Given the description of an element on the screen output the (x, y) to click on. 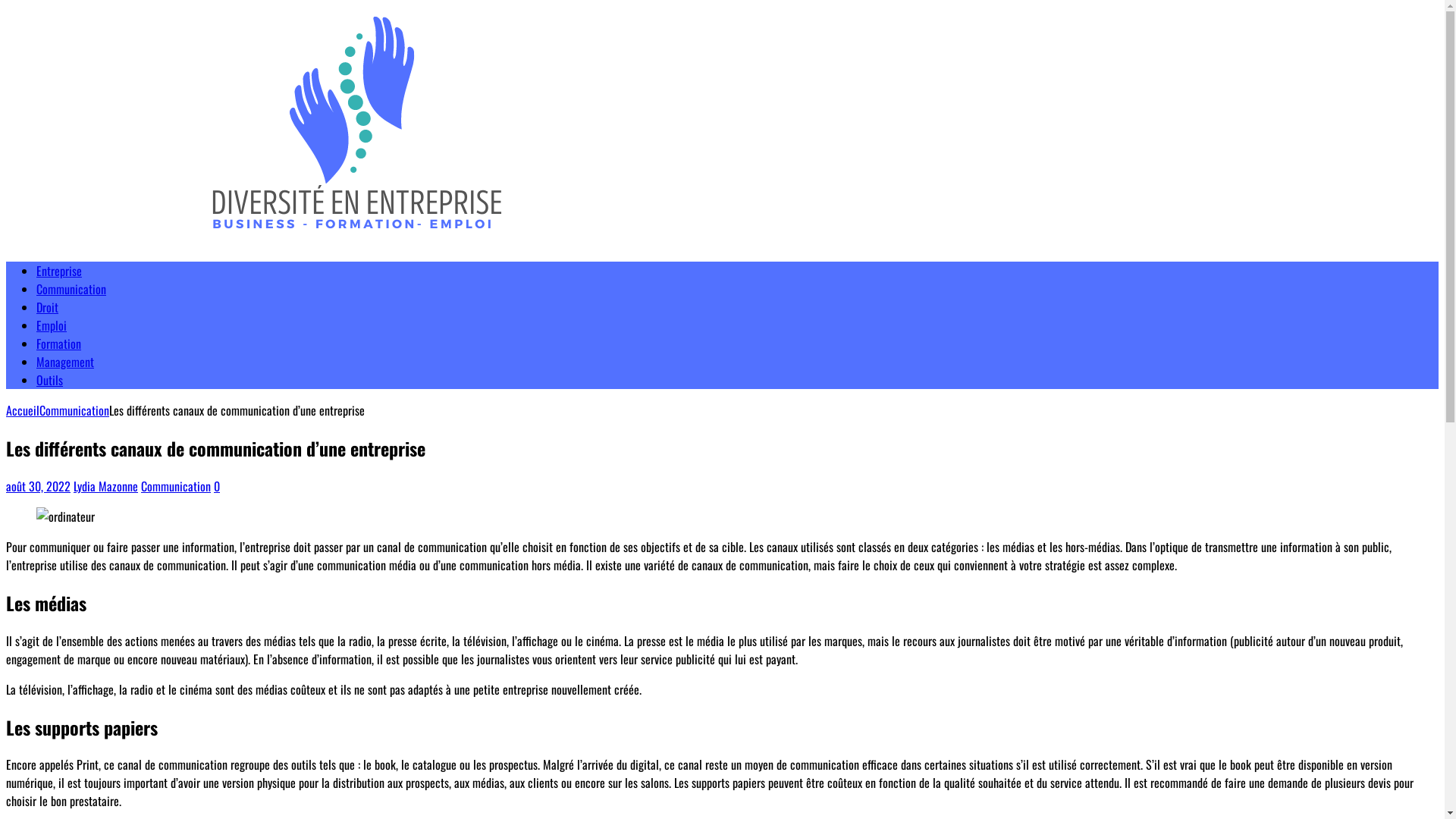
Entreprise Element type: text (58, 270)
Accueil Element type: text (22, 410)
0 Element type: text (216, 485)
Emploi Element type: text (51, 325)
Management Element type: text (65, 361)
Droit Element type: text (47, 307)
Lydia Mazonne Element type: text (105, 485)
Formation Element type: text (58, 343)
Communication Element type: text (74, 410)
Communication Element type: text (71, 288)
Communication Element type: text (175, 485)
Outils Element type: text (49, 379)
